Given the description of an element on the screen output the (x, y) to click on. 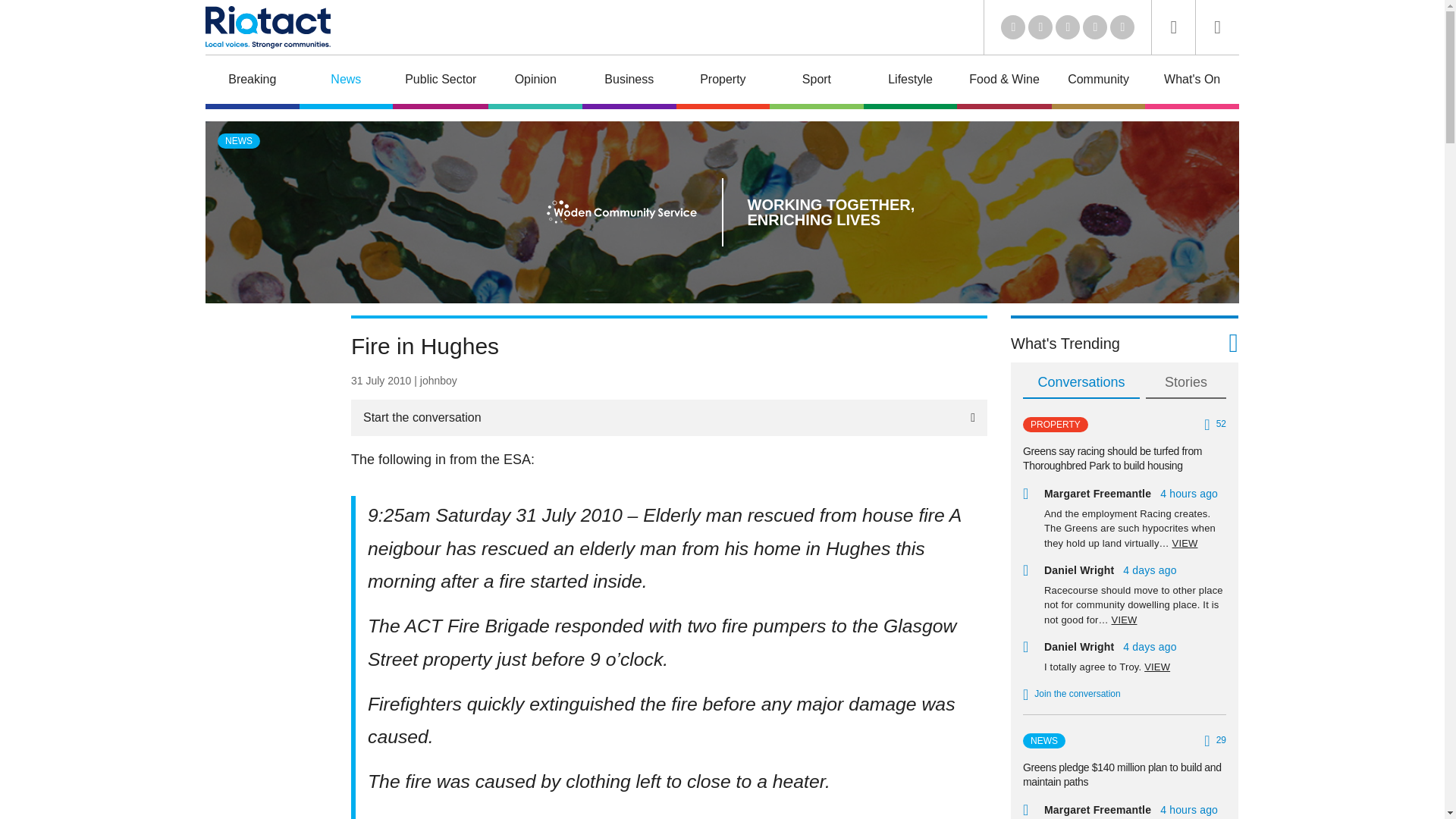
Twitter (1039, 27)
News (346, 81)
Breaking (252, 81)
Youtube (1067, 27)
LinkedIn (1013, 27)
Riotact Home (267, 26)
Facebook (1094, 27)
Instagram (1121, 27)
